Given the description of an element on the screen output the (x, y) to click on. 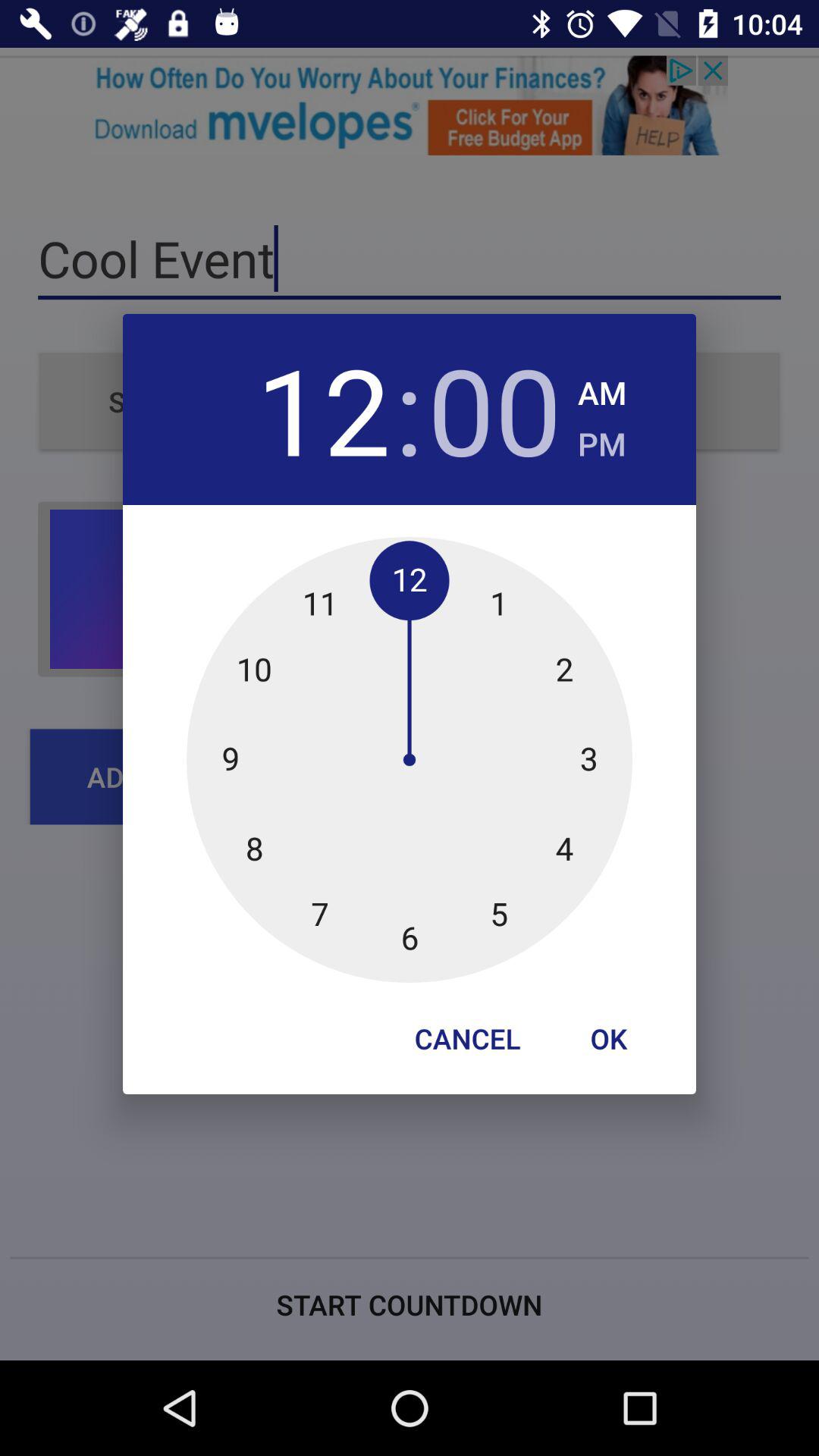
flip to the 12 icon (323, 408)
